Given the description of an element on the screen output the (x, y) to click on. 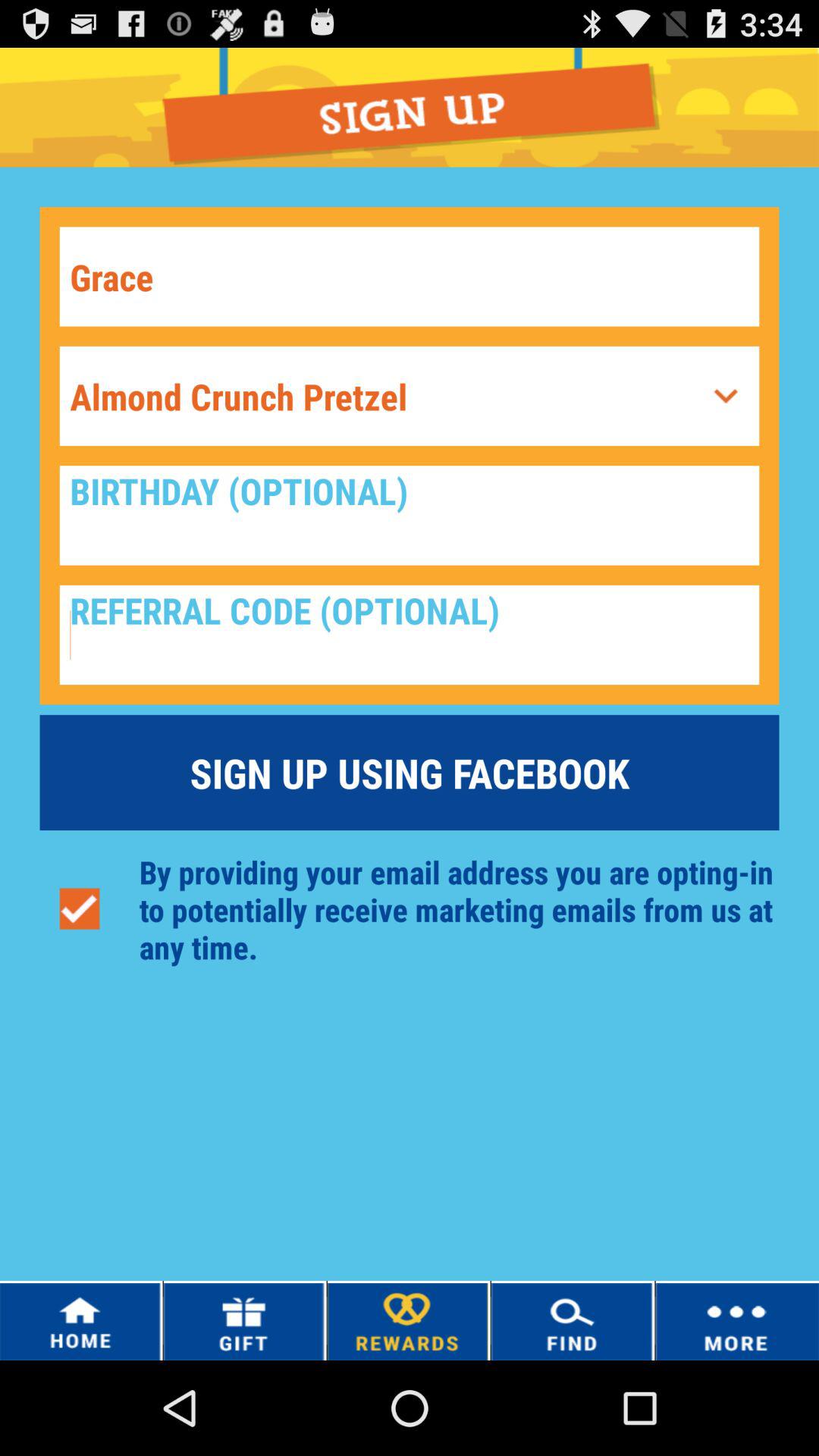
see more options (725, 395)
